Given the description of an element on the screen output the (x, y) to click on. 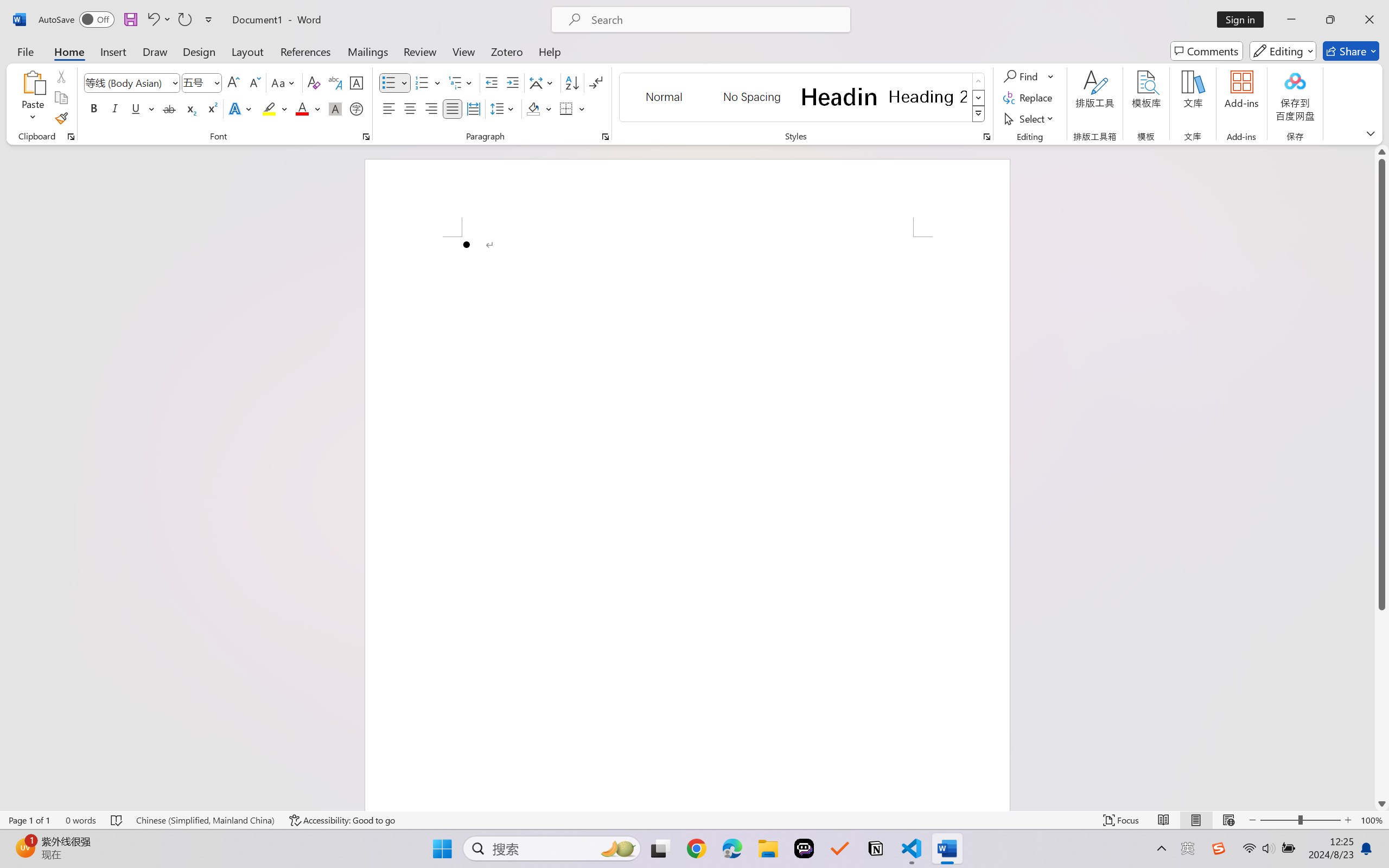
Line down (1382, 803)
